Given the description of an element on the screen output the (x, y) to click on. 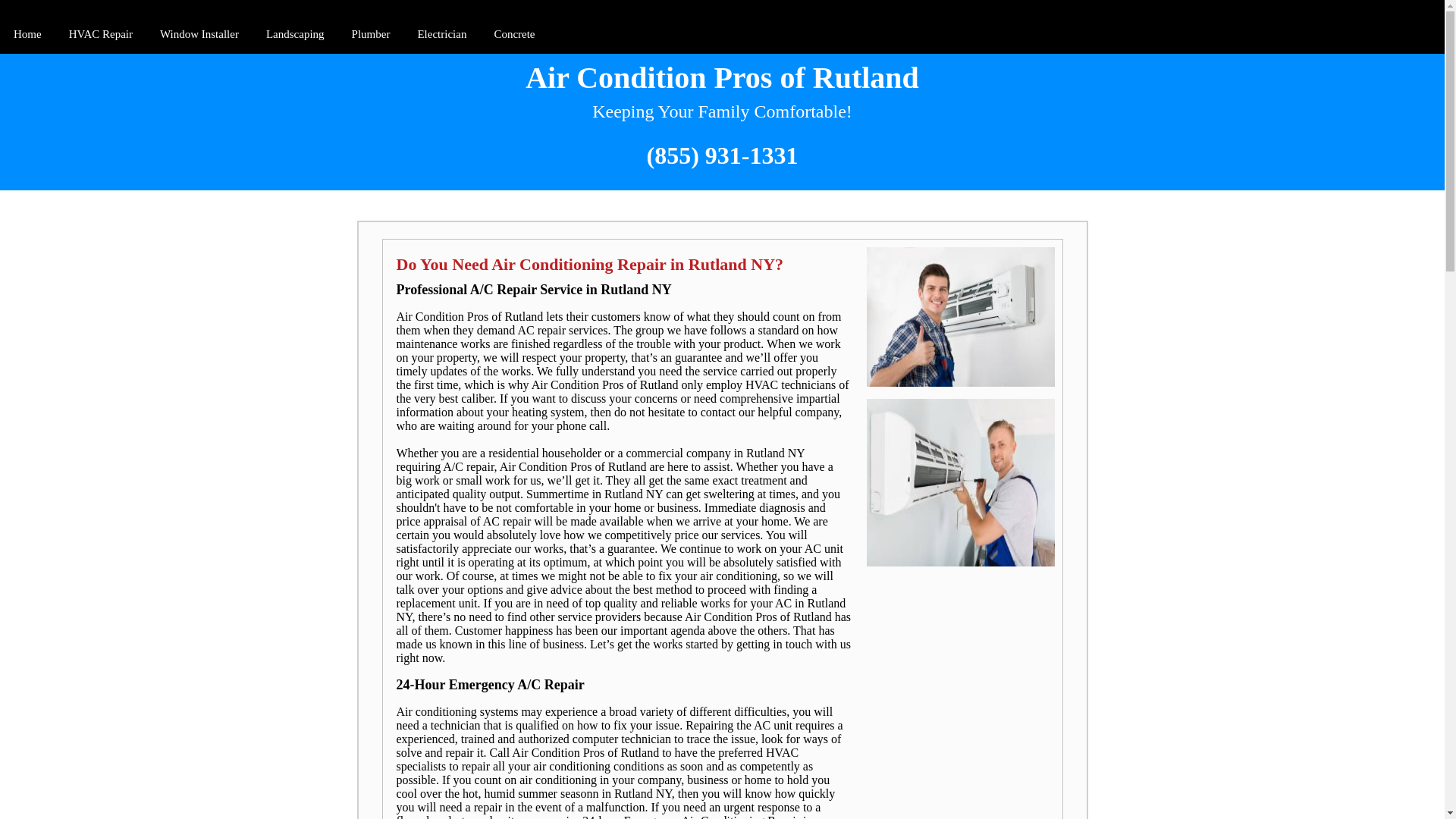
Electrician (441, 34)
HVAC Repair (100, 34)
Air Condition Pros of Rutland (722, 77)
Concrete (513, 34)
Plumber (370, 34)
Window Installer (199, 34)
Landscaping (295, 34)
Home (27, 34)
